Given the description of an element on the screen output the (x, y) to click on. 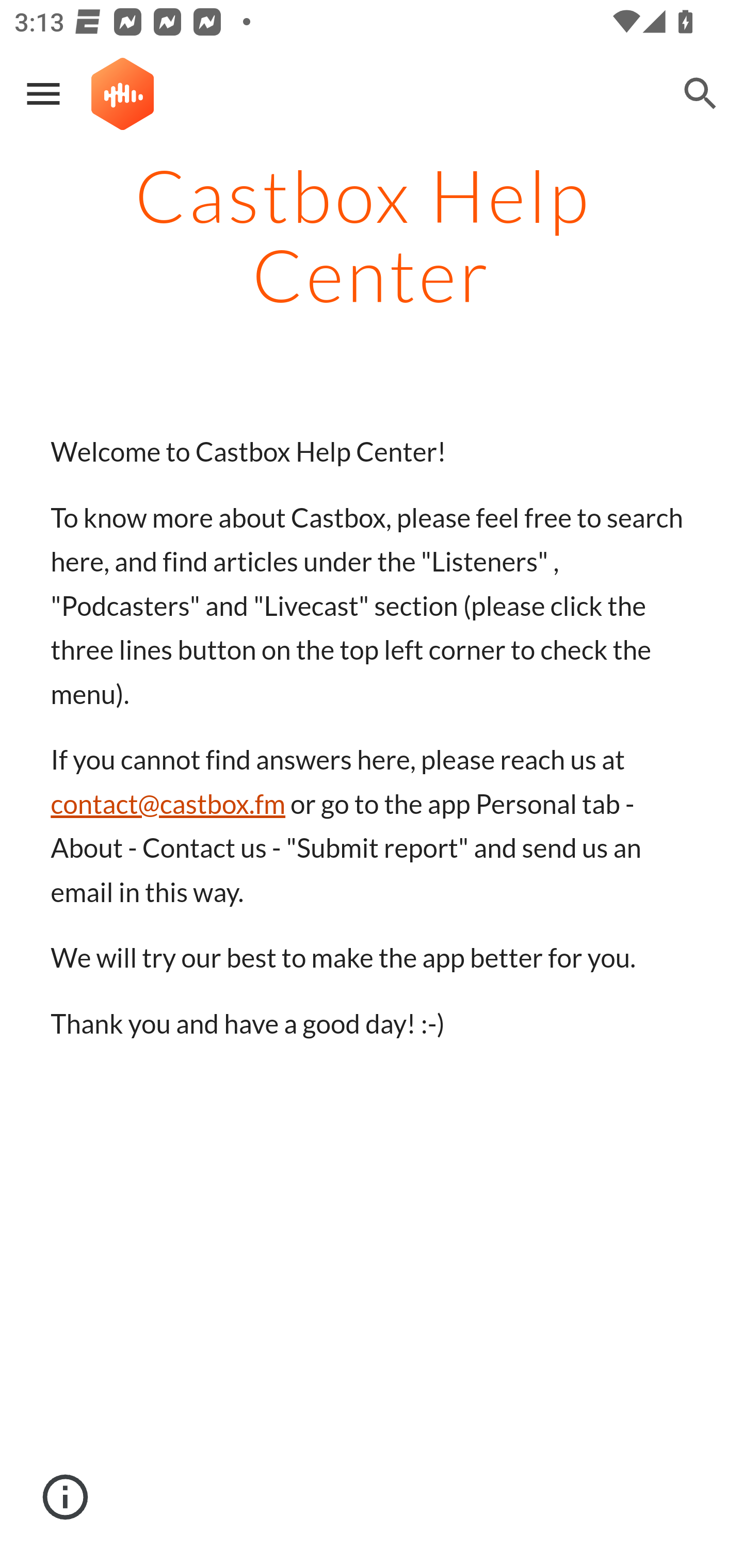
Skip to navigation (608, 109)
contact@castbox.fm (168, 804)
Site actions (65, 1497)
